Given the description of an element on the screen output the (x, y) to click on. 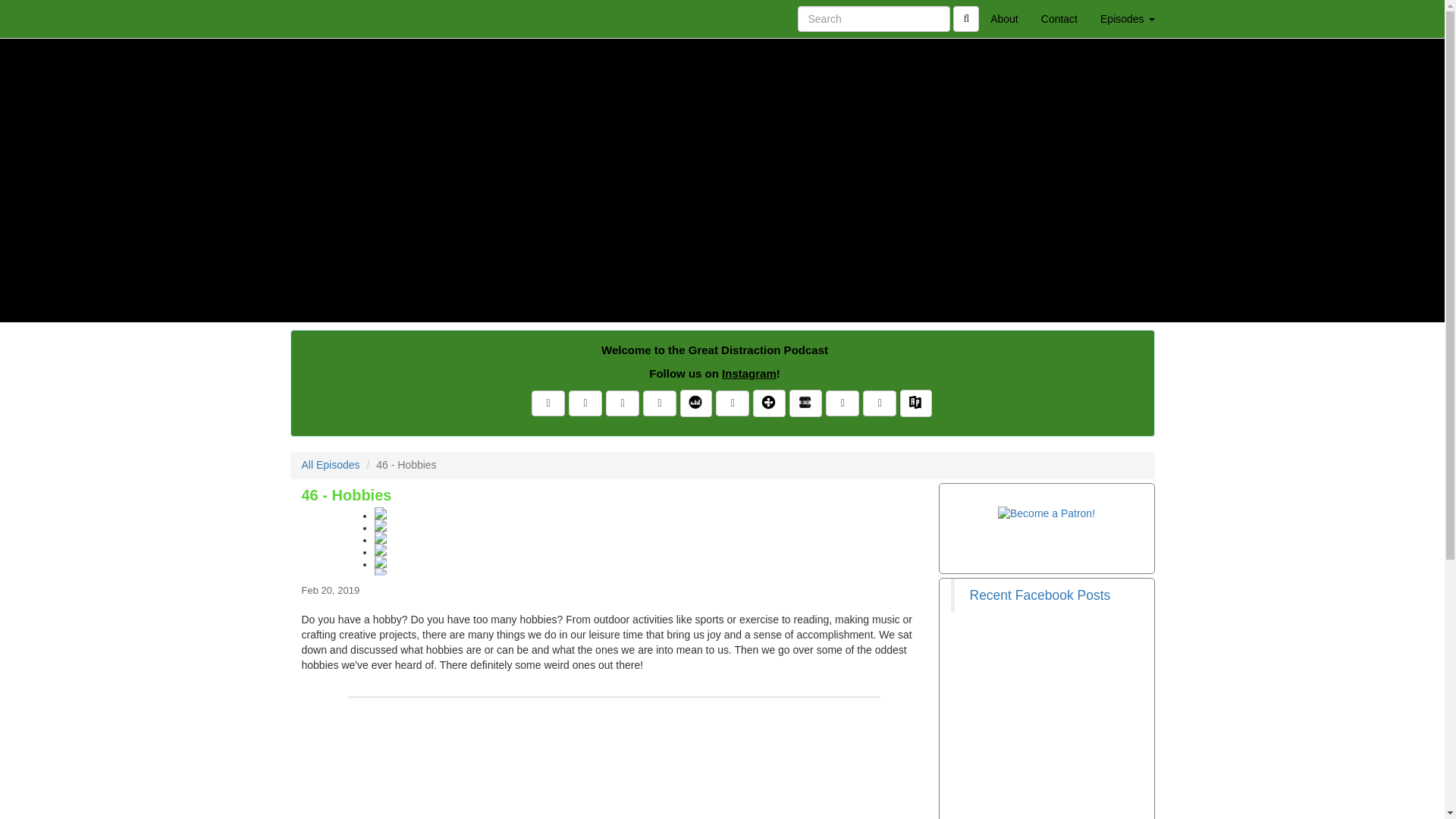
Home Page (320, 18)
46 - Hobbies (614, 540)
Contact (1059, 18)
About (1003, 18)
Instagram (749, 373)
Episodes (1127, 18)
